Given the description of an element on the screen output the (x, y) to click on. 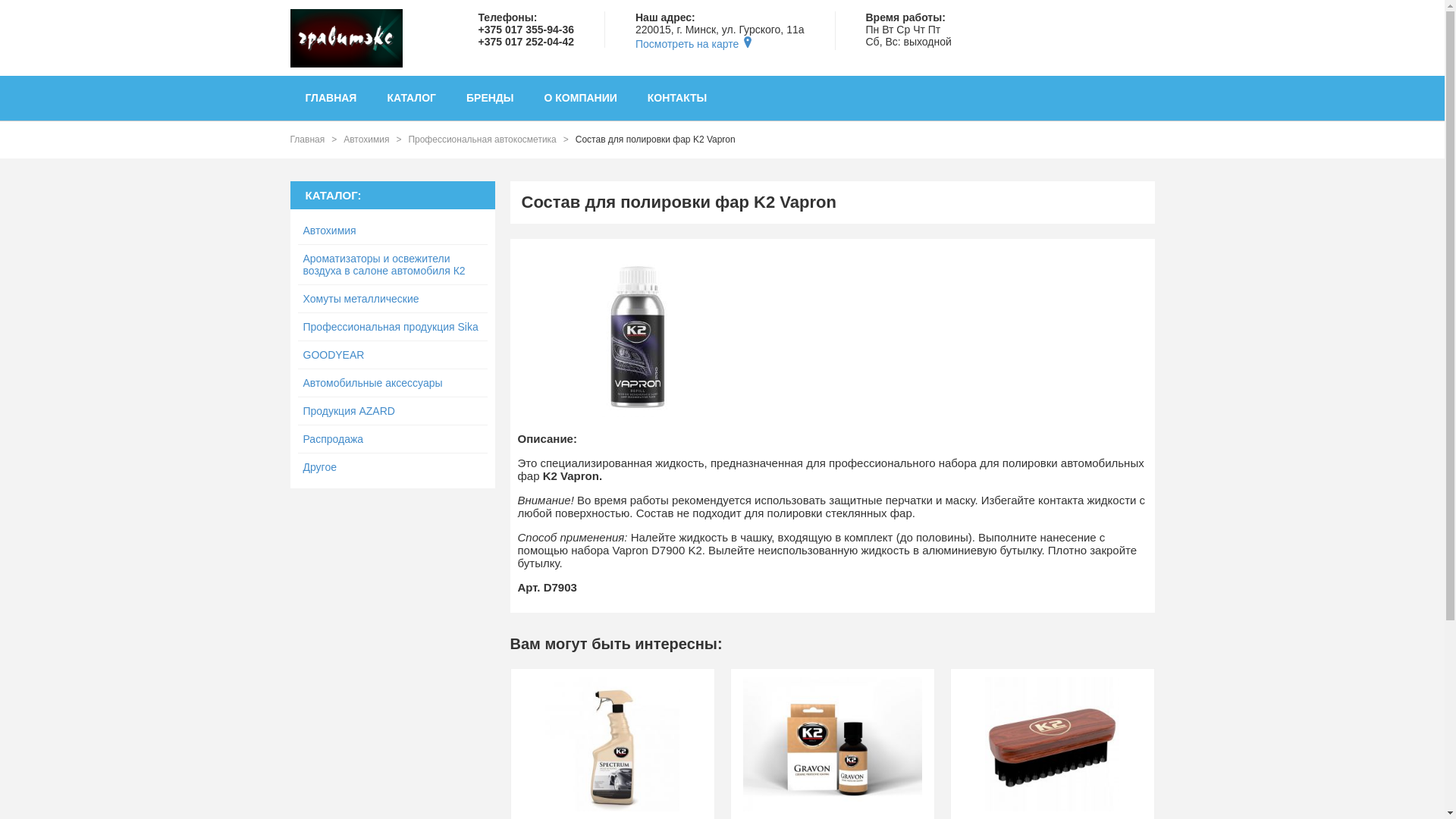
GOODYEAR Element type: text (391, 355)
